Given the description of an element on the screen output the (x, y) to click on. 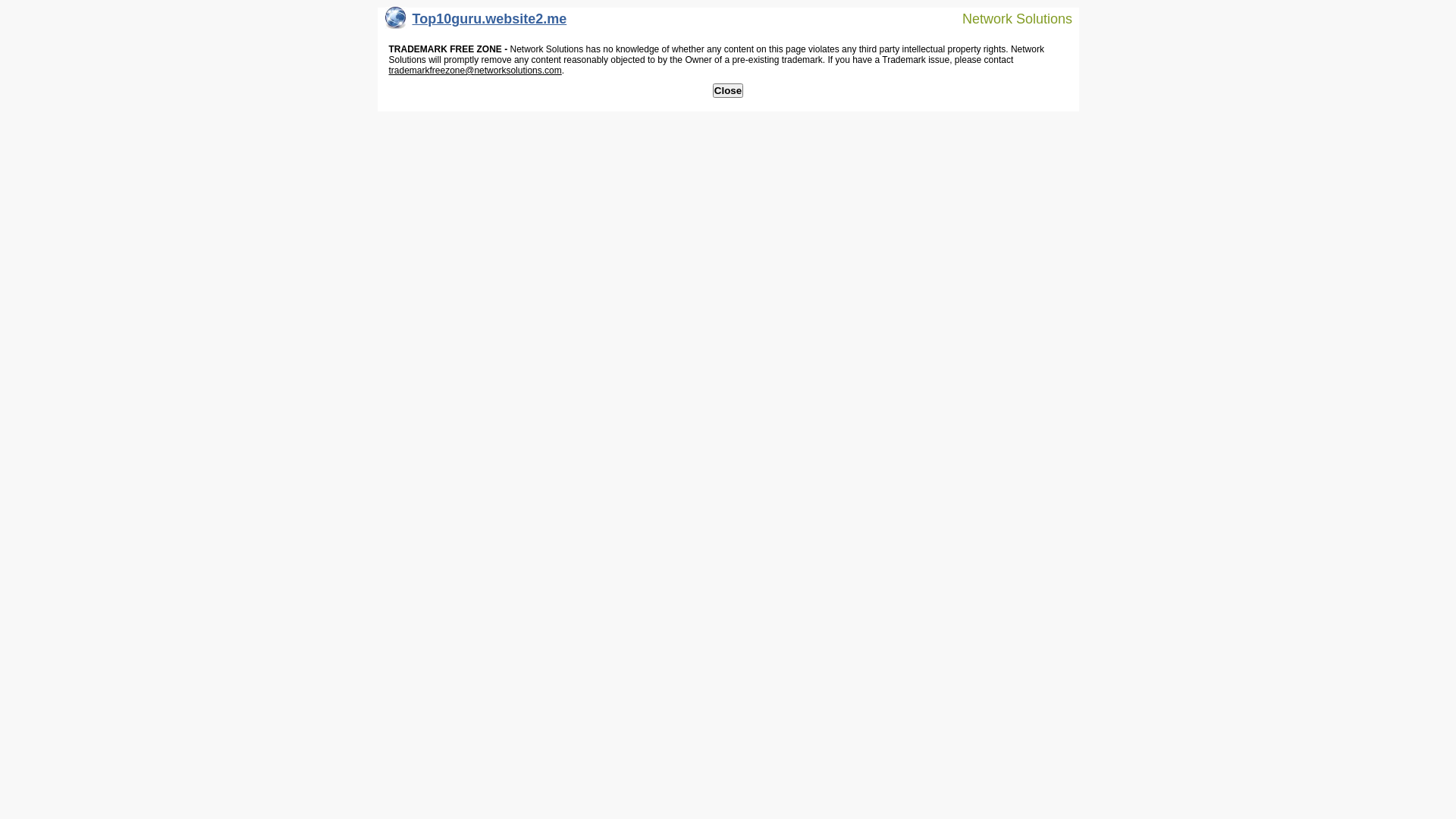
Close Element type: text (727, 90)
trademarkfreezone@networksolutions.com Element type: text (474, 70)
Network Solutions Element type: text (1007, 17)
Top10guru.website2.me Element type: text (476, 21)
